Given the description of an element on the screen output the (x, y) to click on. 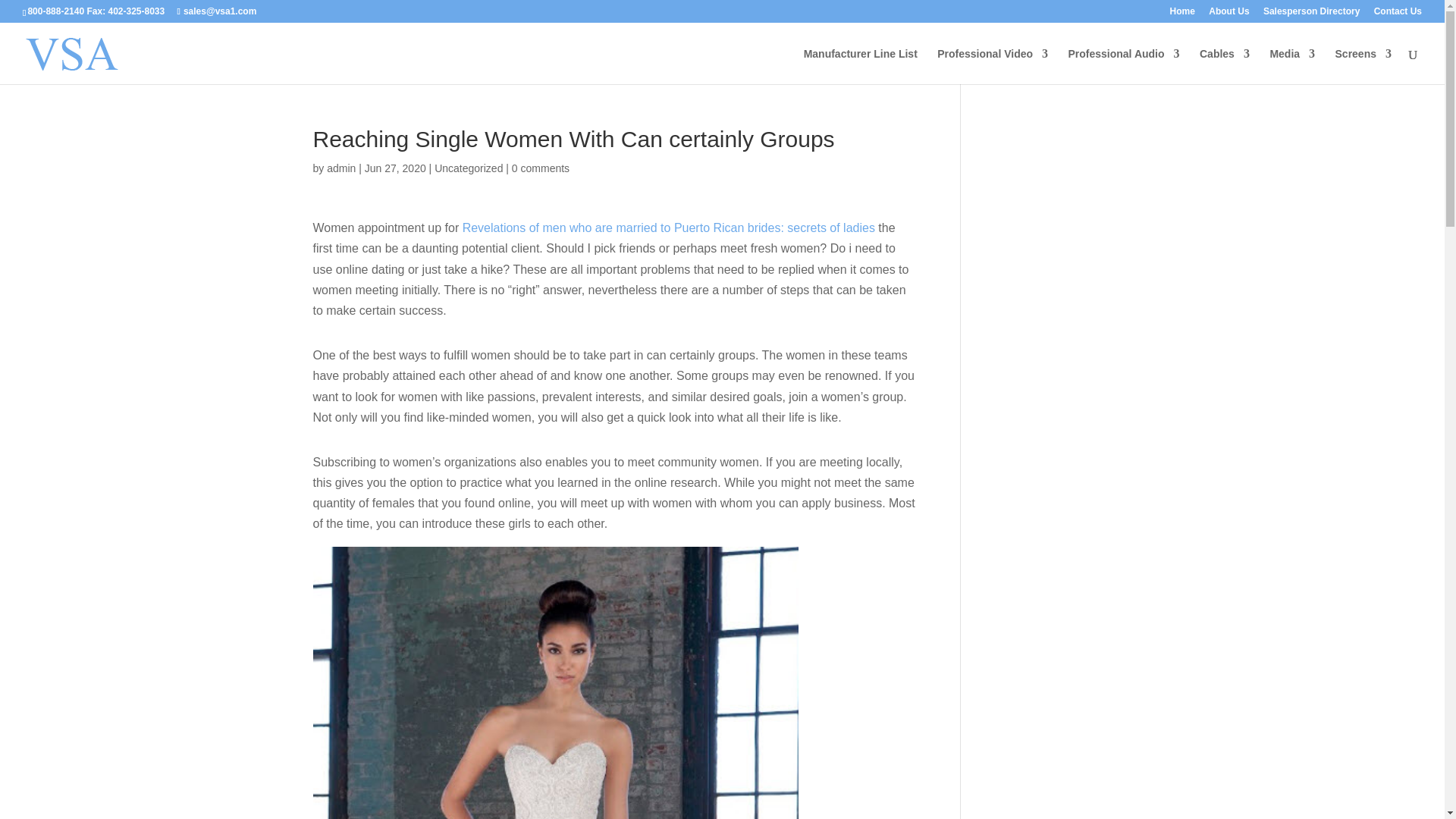
Salesperson Directory (1311, 14)
Professional Video (992, 66)
About Us (1228, 14)
Contact Us (1398, 14)
Professional Audio (1123, 66)
Home (1182, 14)
Manufacturer Line List (860, 66)
